Given the description of an element on the screen output the (x, y) to click on. 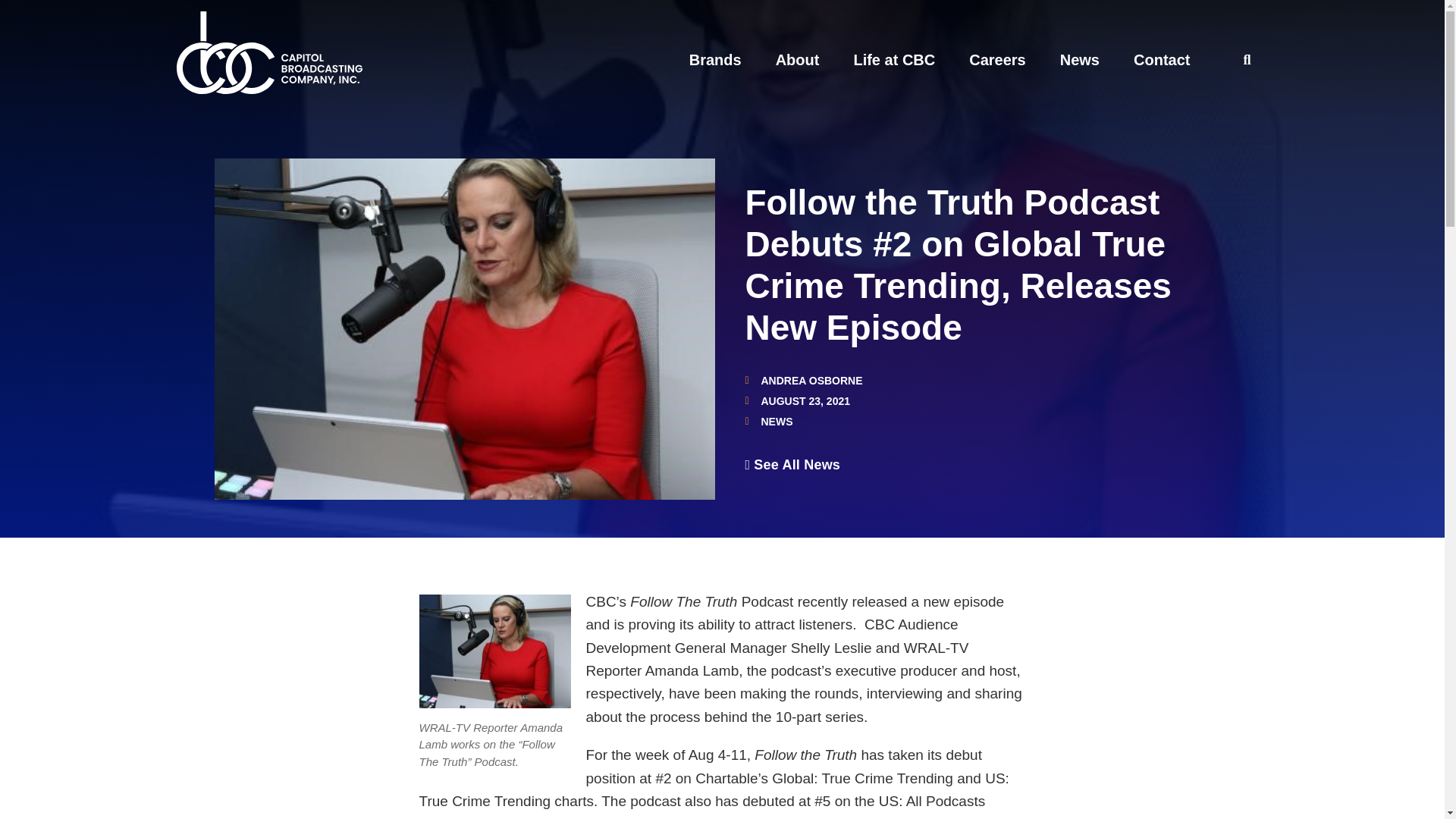
About (797, 59)
See All News (792, 464)
News (1079, 59)
Careers (997, 59)
Contact (1161, 59)
AUGUST 23, 2021 (797, 400)
Life at CBC (893, 59)
ANDREA OSBORNE (802, 380)
NEWS (777, 421)
Brands (714, 59)
